Given the description of an element on the screen output the (x, y) to click on. 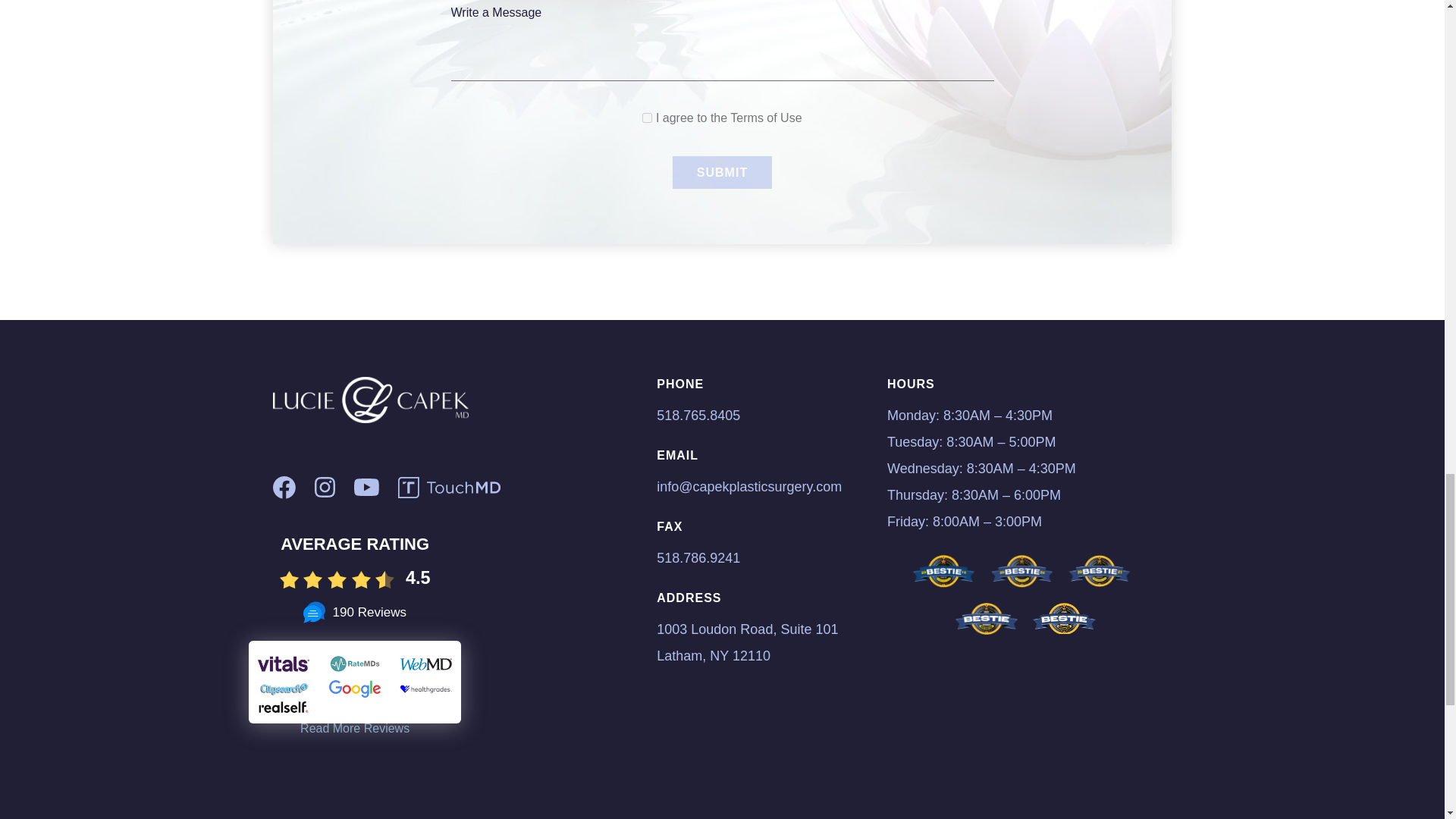
Submit (721, 172)
I agree to the Terms of Use (647, 117)
